Given the description of an element on the screen output the (x, y) to click on. 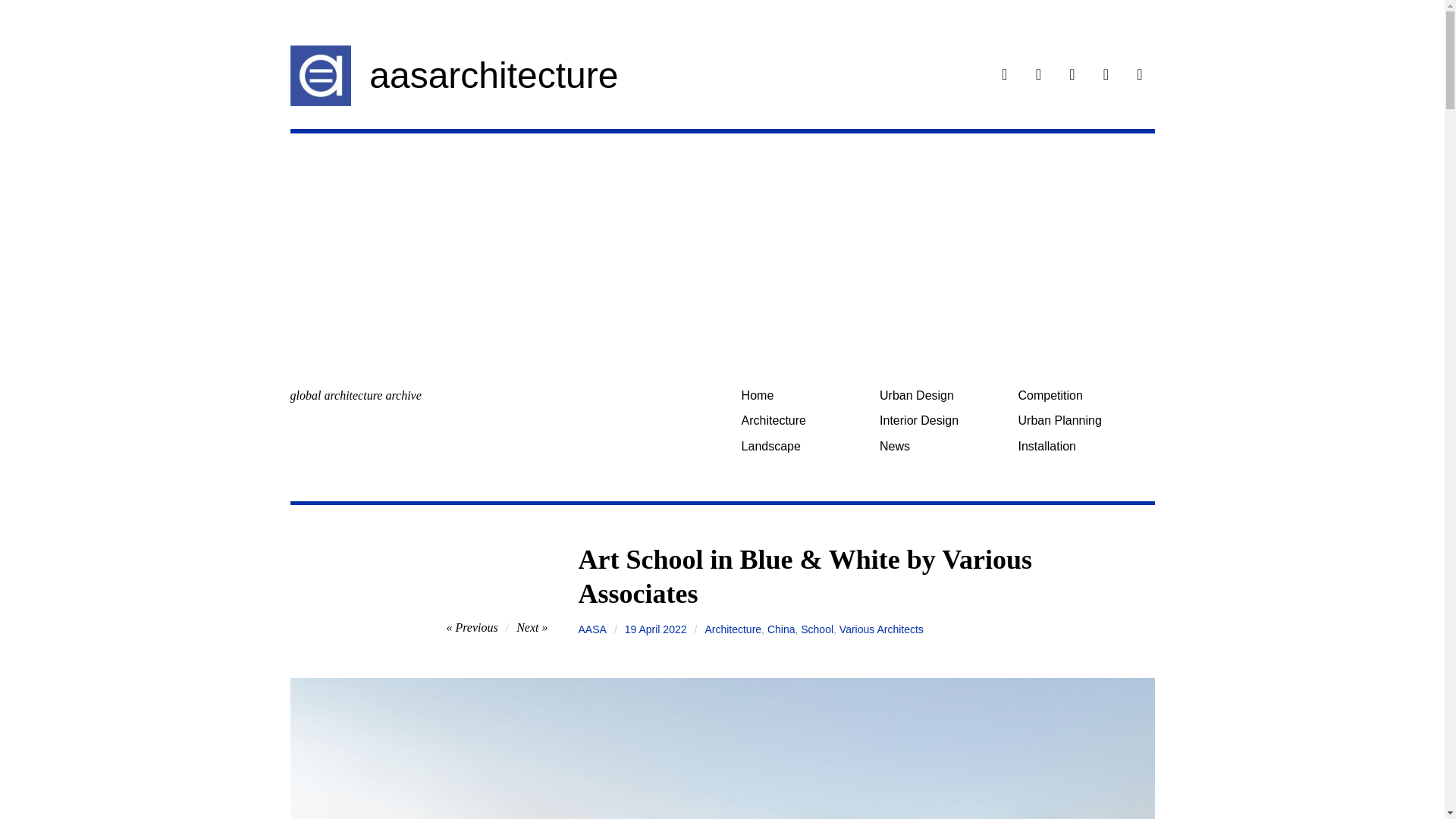
Home (804, 395)
China (780, 629)
Landscape (804, 445)
Urban Planning (1080, 420)
Next (531, 626)
19 April 2022 (655, 629)
Youtube (1138, 75)
School (816, 629)
Previous (471, 626)
Architecture (732, 629)
